Given the description of an element on the screen output the (x, y) to click on. 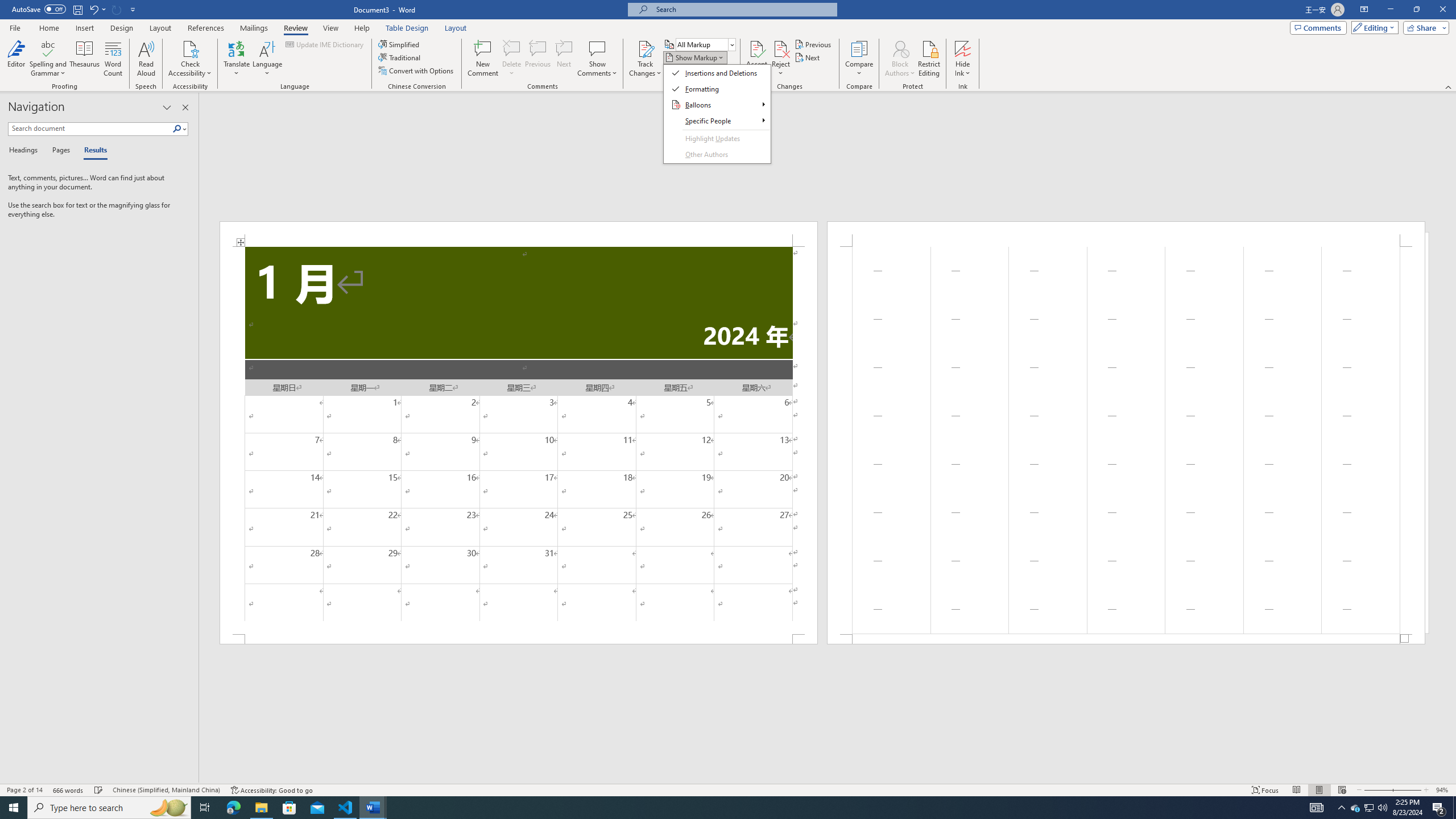
Hide Ink (962, 58)
Page Number Page 2 of 14 (24, 790)
Block Authors (900, 48)
Page 1 content (518, 439)
Delete (511, 58)
